Given the description of an element on the screen output the (x, y) to click on. 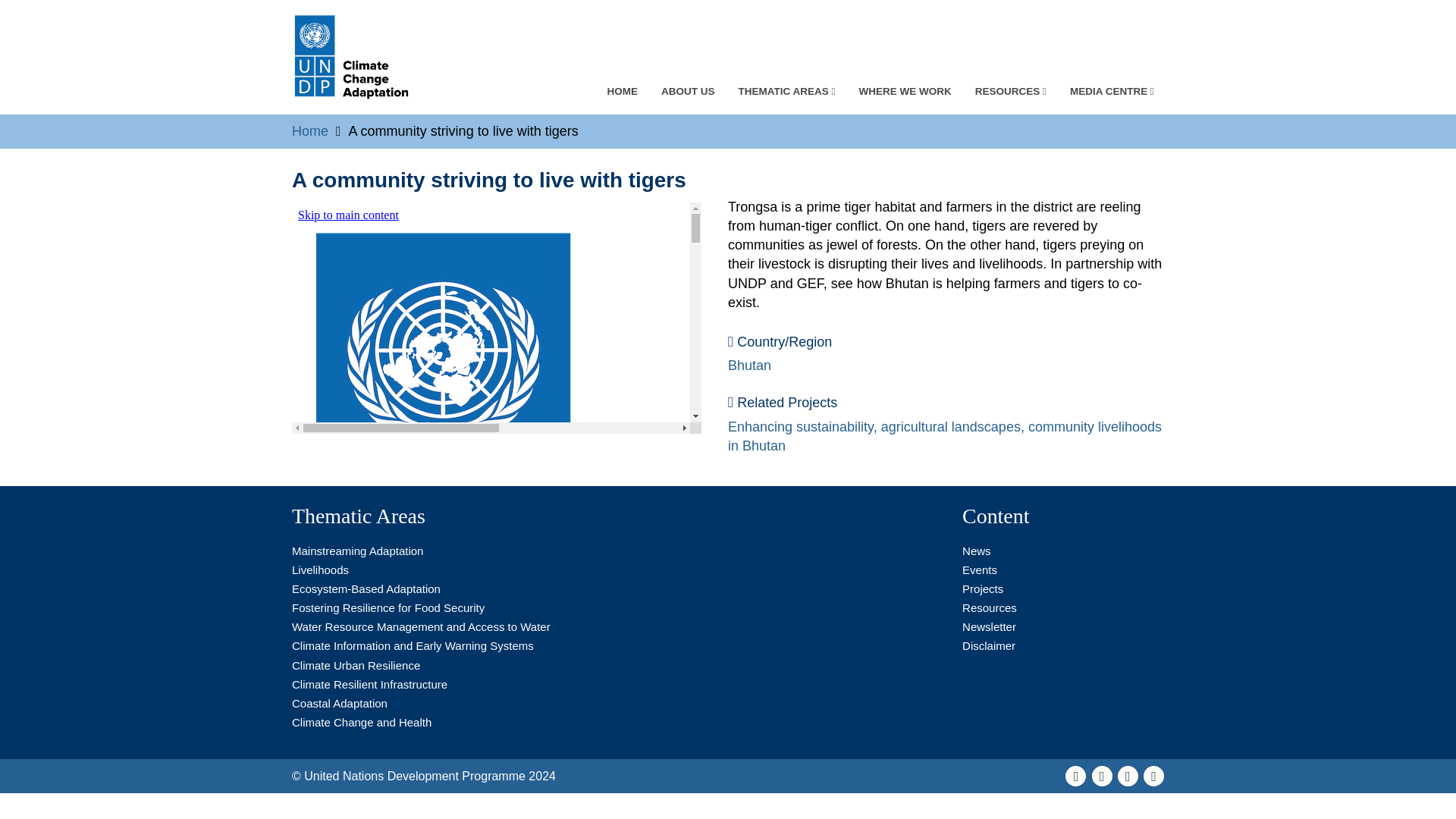
Ecosystem-Based Adaptation (366, 588)
RESOURCES (1011, 91)
MEDIA CENTRE (1111, 91)
Bhutan (749, 365)
Climate Change and Health (361, 721)
WHERE WE WORK (904, 91)
Home (310, 130)
A community striving to live with tigers (496, 318)
Livelihoods (320, 569)
Water Resource Management and Access to Water (421, 626)
